Given the description of an element on the screen output the (x, y) to click on. 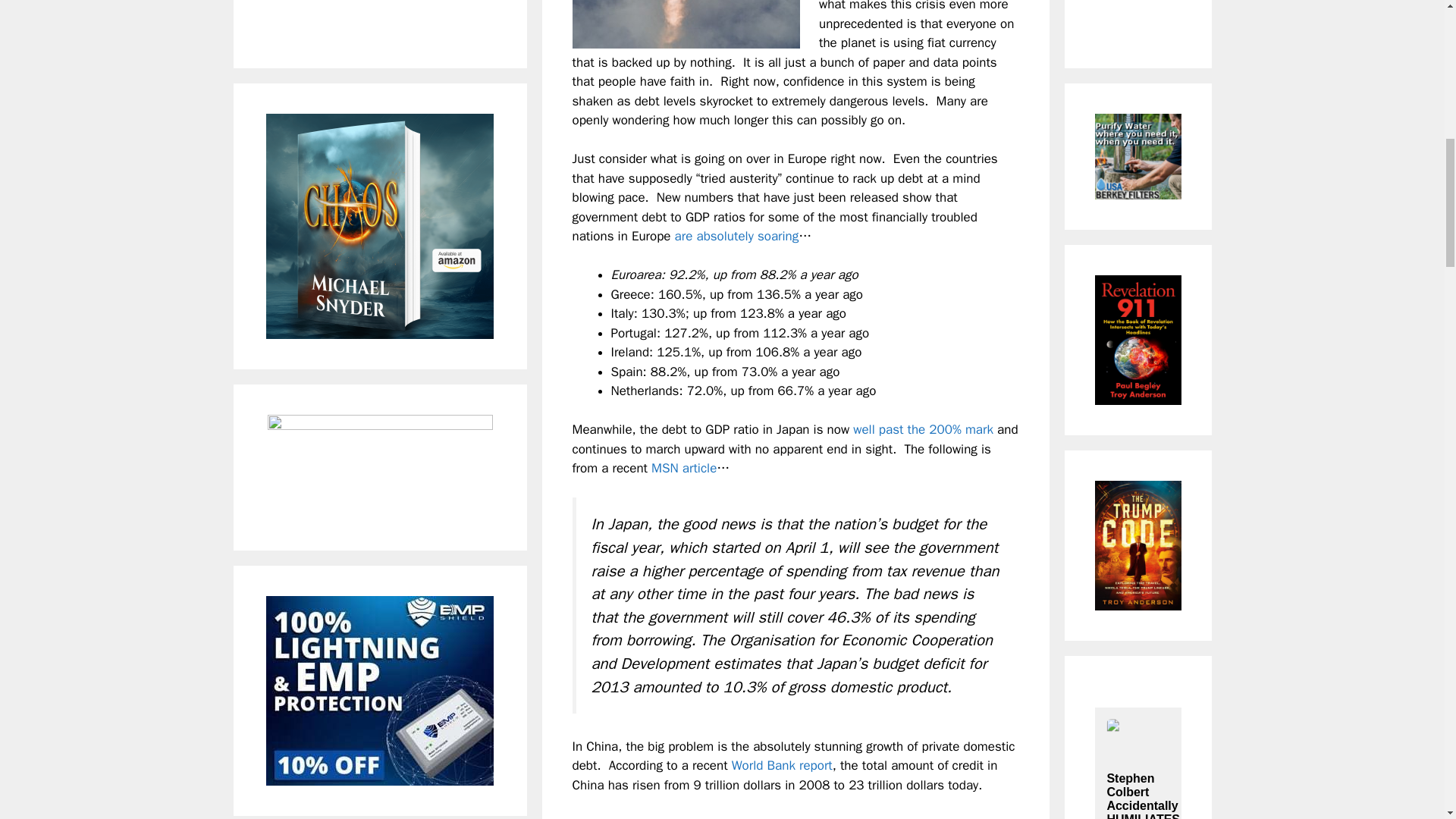
World Bank report (782, 765)
are absolutely soaring (737, 236)
are absolutely soaring (737, 236)
MSN article (683, 467)
World Bank report (782, 765)
MSN article (683, 467)
